Given the description of an element on the screen output the (x, y) to click on. 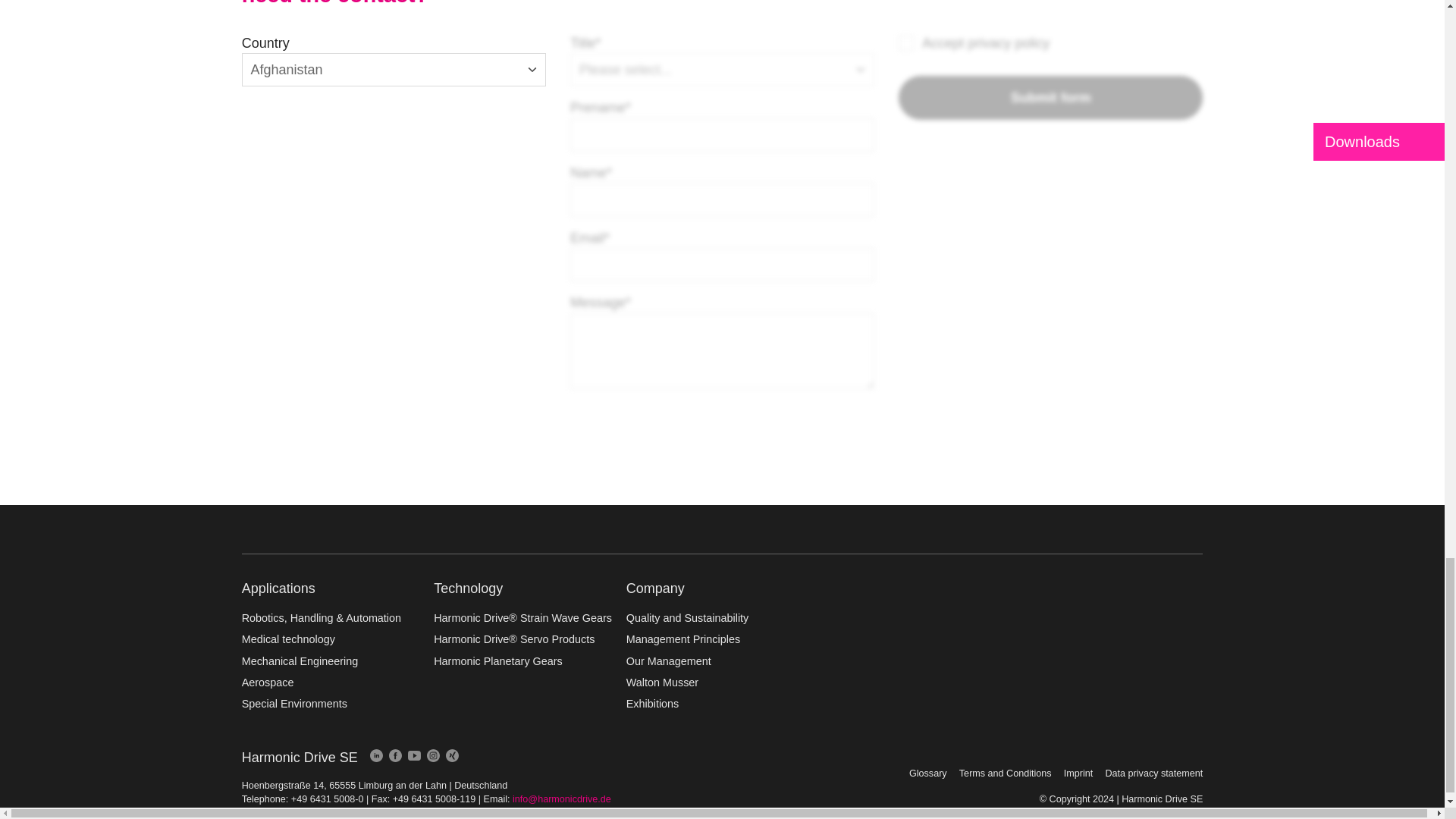
linkedin (375, 755)
Submit form (1050, 97)
